Given the description of an element on the screen output the (x, y) to click on. 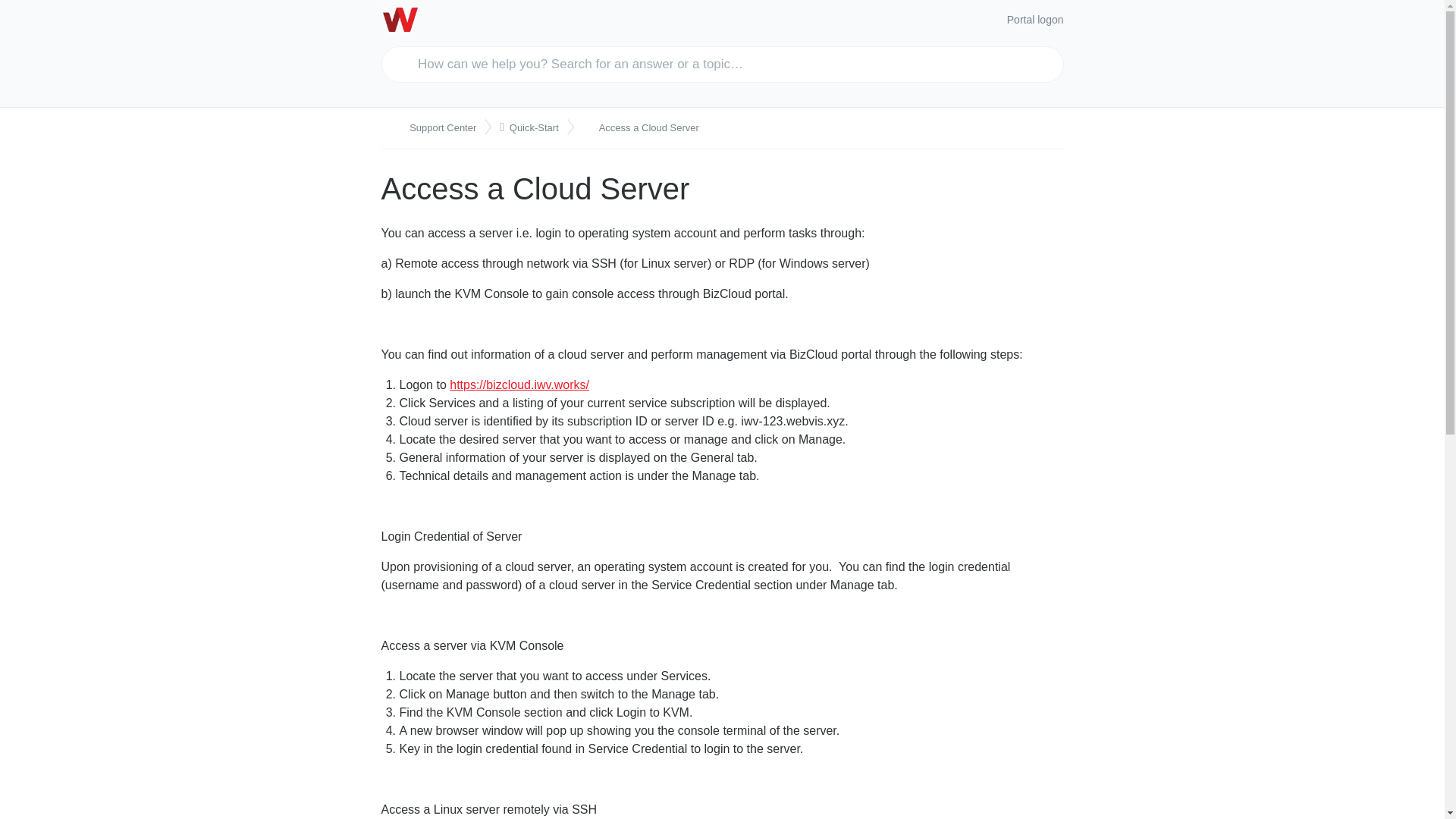
Portal logon (1034, 20)
Access a Cloud Server (643, 128)
Support Center (436, 128)
